Given the description of an element on the screen output the (x, y) to click on. 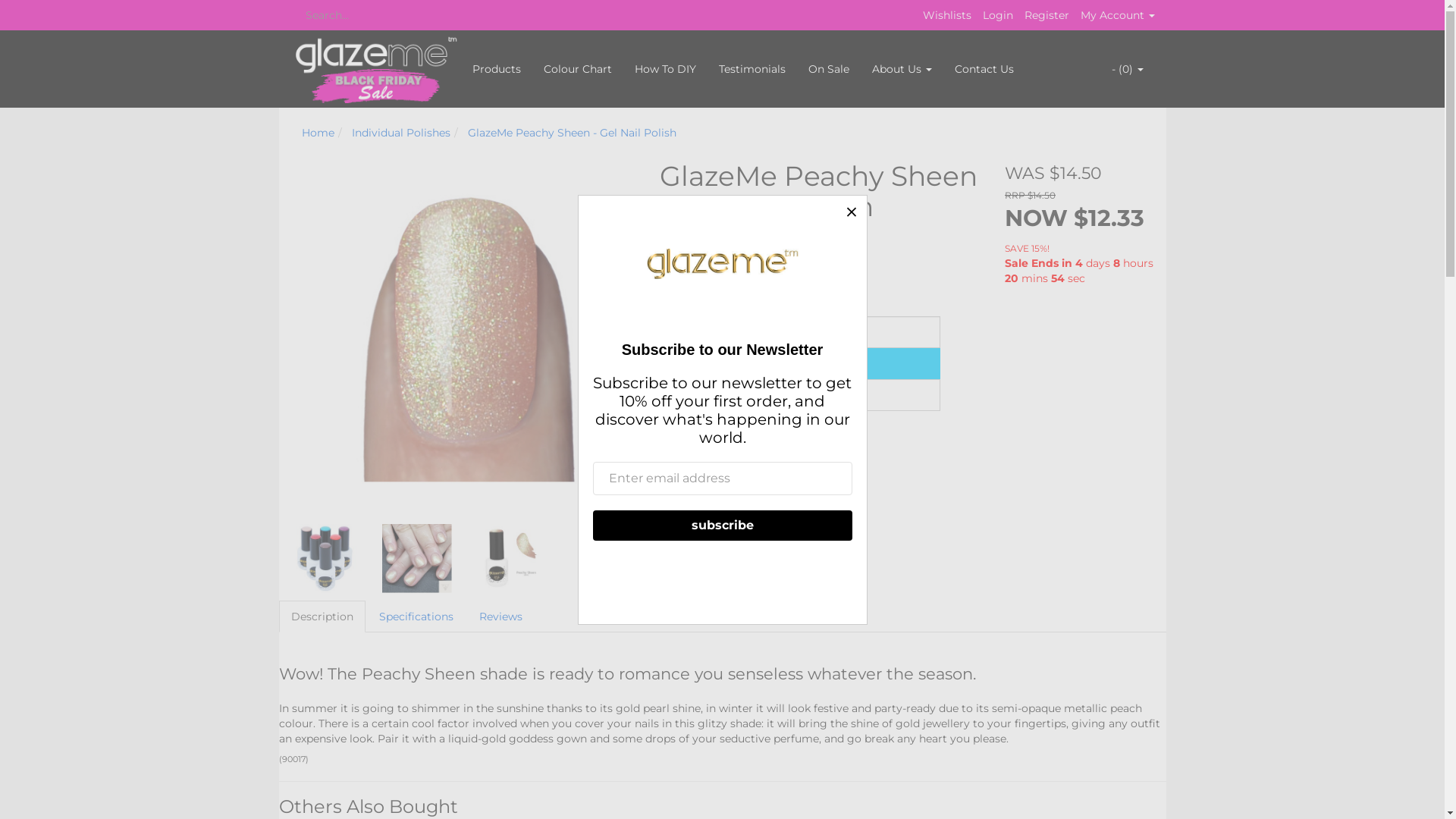
On Sale Element type: text (827, 68)
Search Element type: text (294, 14)
Register Element type: text (1045, 14)
Colour Chart Element type: text (577, 68)
Individual Polishes Element type: text (400, 132)
Testimonials Element type: text (751, 68)
Share: Element type: text (682, 252)
Login Element type: text (997, 14)
- (0) Element type: text (1126, 68)
Wishlist Element type: text (799, 395)
Add to Cart Element type: text (799, 363)
Home Element type: text (317, 132)
Products Element type: text (496, 68)
Reviews Element type: text (500, 616)
Large View Element type: hover (416, 558)
GlazeMe Peachy Sheen - Gel Nail Polish Element type: text (571, 132)
Wishlists Element type: text (946, 14)
About Us Element type: text (900, 68)
Specifications Element type: text (416, 616)
Contact Us Element type: text (984, 68)
My Account Element type: text (1116, 14)
Large View Element type: hover (324, 558)
Large View Element type: hover (509, 558)
How To DIY Element type: text (665, 68)
Description Element type: text (322, 616)
Rated 4/5 based on 2 reviews. Element type: text (720, 237)
